Given the description of an element on the screen output the (x, y) to click on. 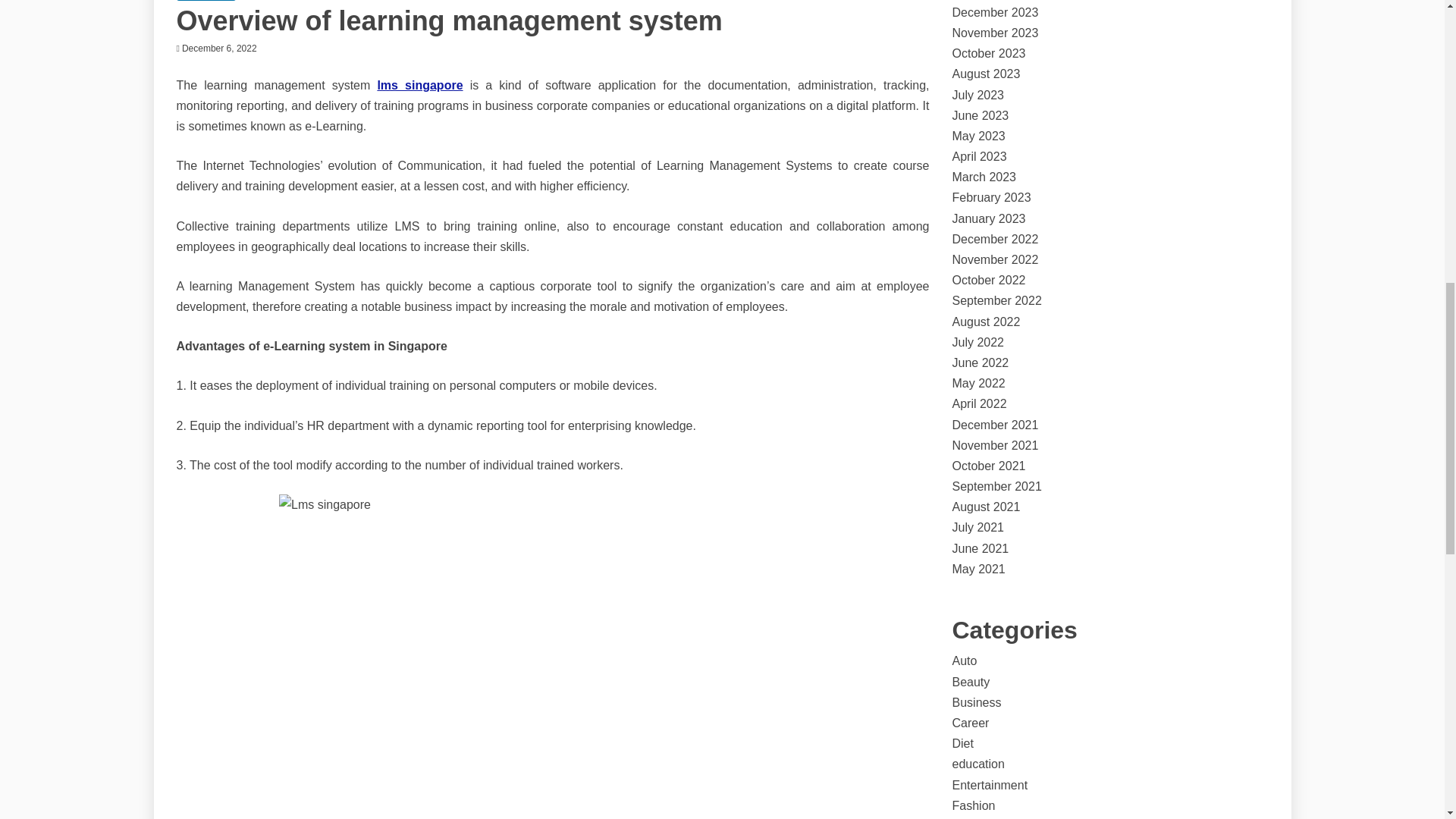
Overview of learning management system (449, 20)
lms singapore (420, 84)
November 2023 (995, 32)
July 2023 (978, 94)
December 2023 (995, 11)
October 2023 (989, 52)
June 2023 (980, 115)
December 6, 2022 (219, 48)
August 2023 (986, 73)
Business (205, 0)
